Given the description of an element on the screen output the (x, y) to click on. 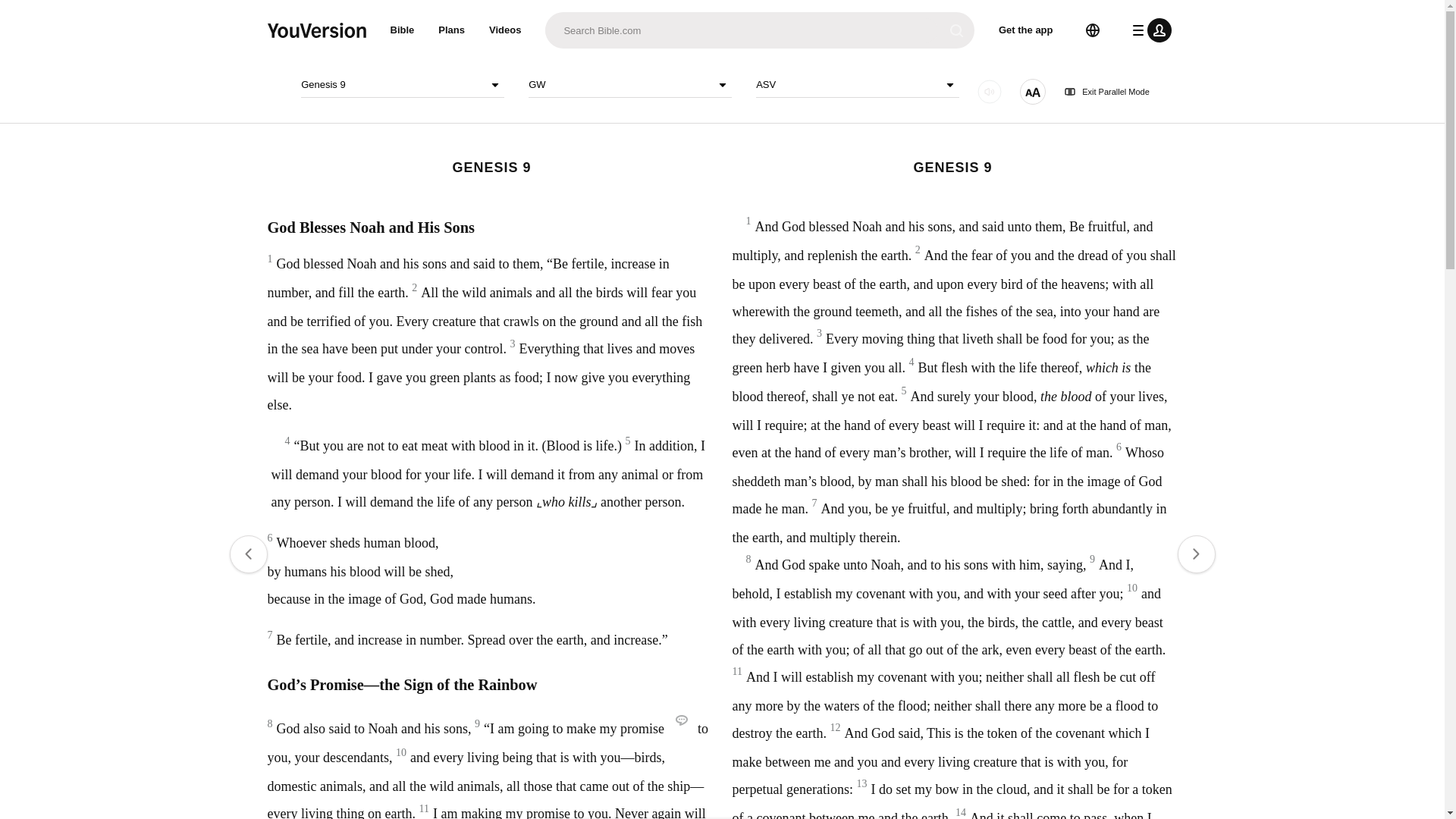
Get the app (1026, 29)
Plans (451, 29)
Exit Parallel Mode (1107, 91)
Bible (401, 29)
GW (630, 84)
Videos (504, 29)
ASV (857, 84)
Genesis 9 (402, 84)
